Given the description of an element on the screen output the (x, y) to click on. 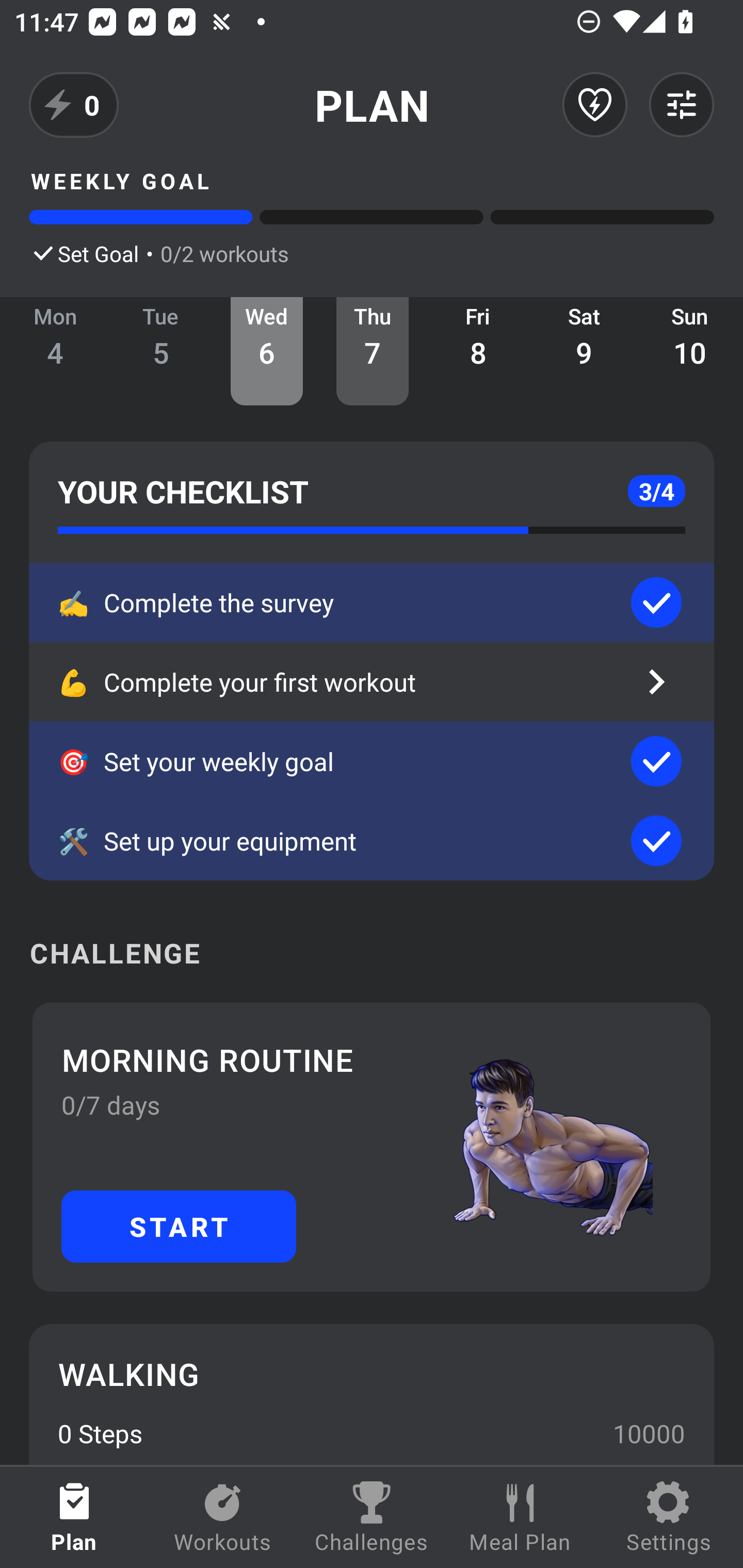
0 (73, 104)
Mon 4 (55, 351)
Tue 5 (160, 351)
Wed 6 (266, 351)
Thu 7 (372, 351)
Fri 8 (478, 351)
Sat 9 (584, 351)
Sun 10 (690, 351)
💪 Complete your first workout (371, 681)
MORNING ROUTINE 0/7 days START (371, 1146)
START (178, 1226)
WALKING 0 Steps 10000 (371, 1393)
 Workouts  (222, 1517)
 Challenges  (371, 1517)
 Meal Plan  (519, 1517)
 Settings  (668, 1517)
